Given the description of an element on the screen output the (x, y) to click on. 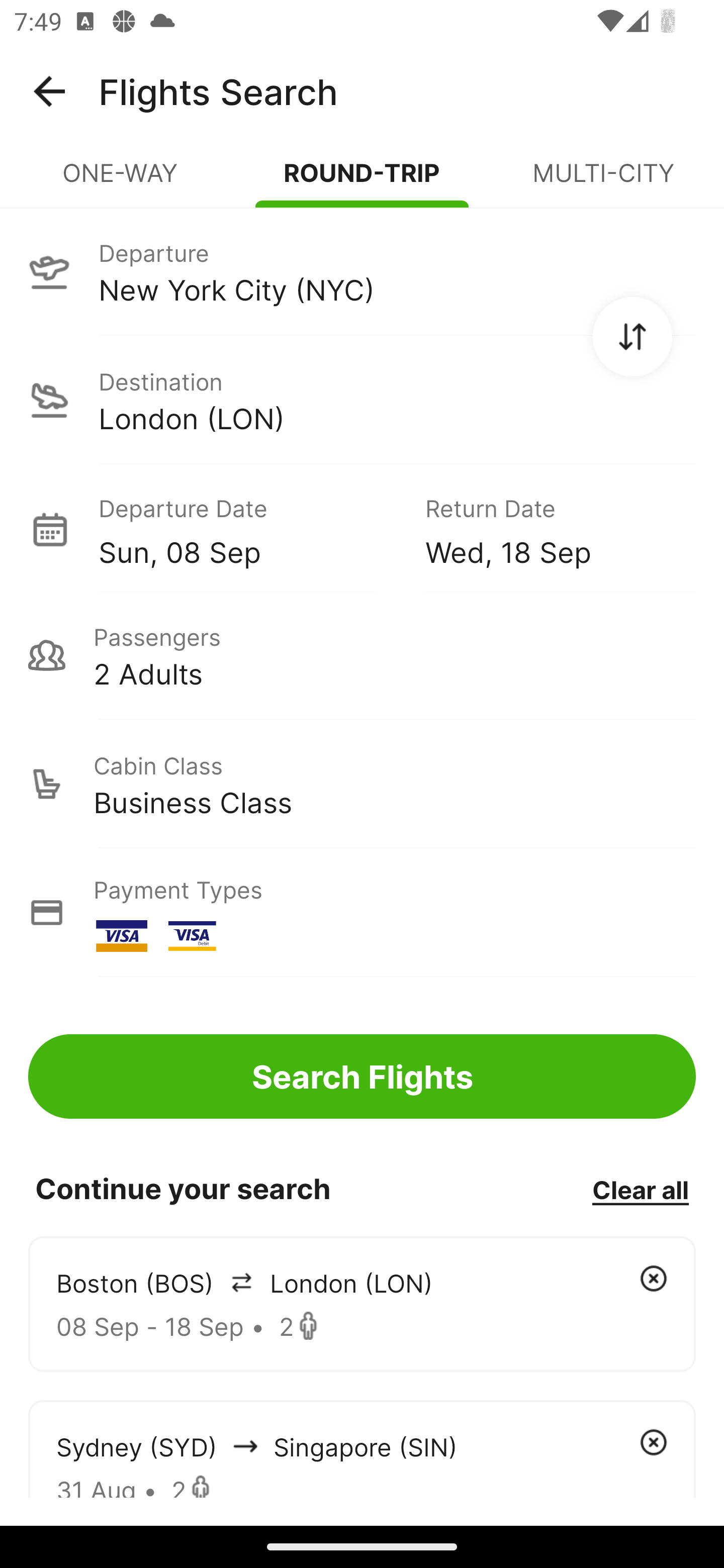
ONE-WAY (120, 180)
ROUND-TRIP (361, 180)
MULTI-CITY (603, 180)
Departure New York City (NYC) (362, 270)
Destination London (LON) (362, 400)
Departure Date Sun, 08 Sep (247, 528)
Return Date Wed, 18 Sep (546, 528)
Passengers 2 Adults (362, 655)
Cabin Class Business Class (362, 783)
Payment Types (362, 912)
Search Flights (361, 1075)
Clear all (640, 1189)
